Given the description of an element on the screen output the (x, y) to click on. 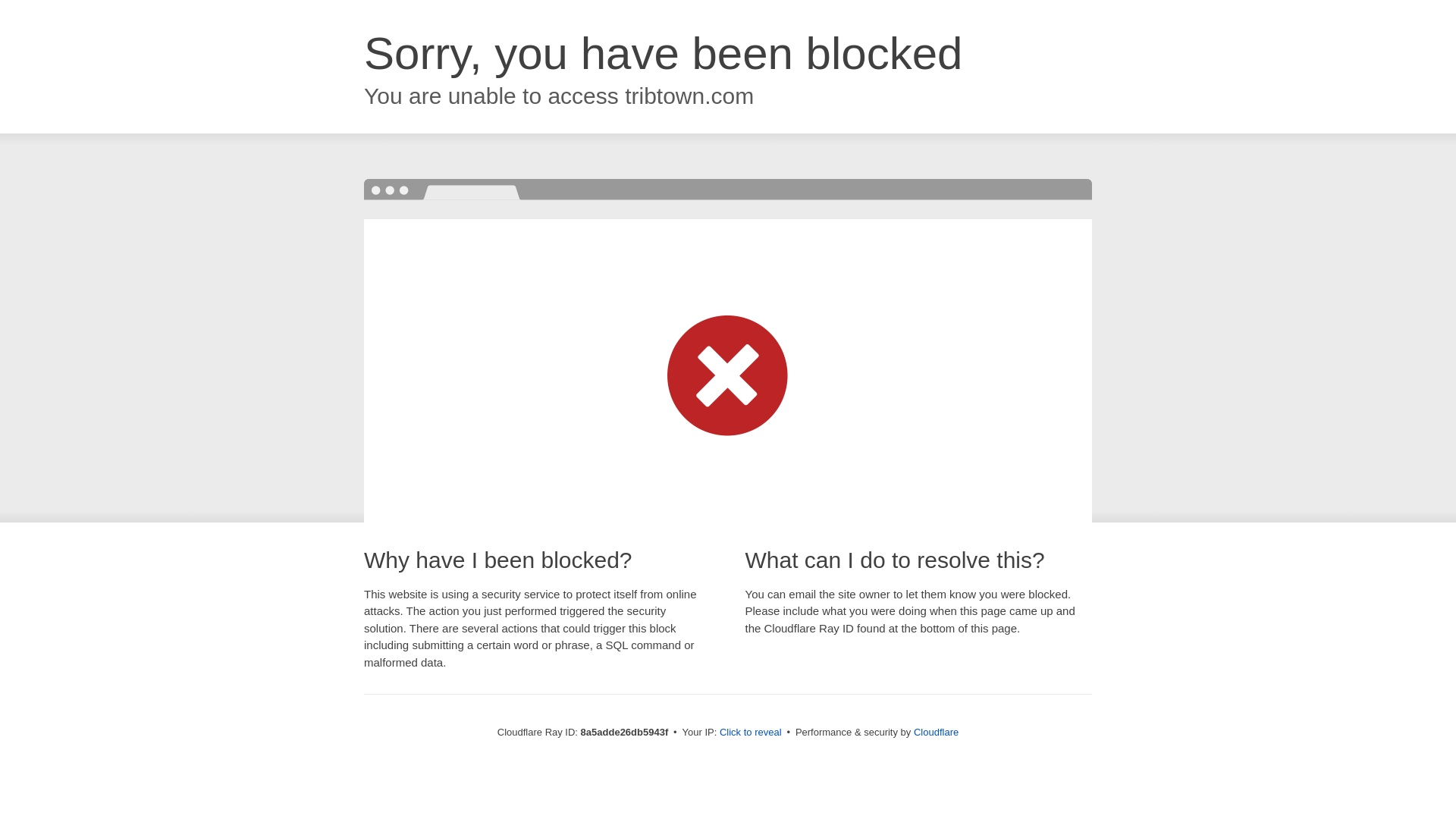
Click to reveal (750, 732)
Cloudflare (936, 731)
